Given the description of an element on the screen output the (x, y) to click on. 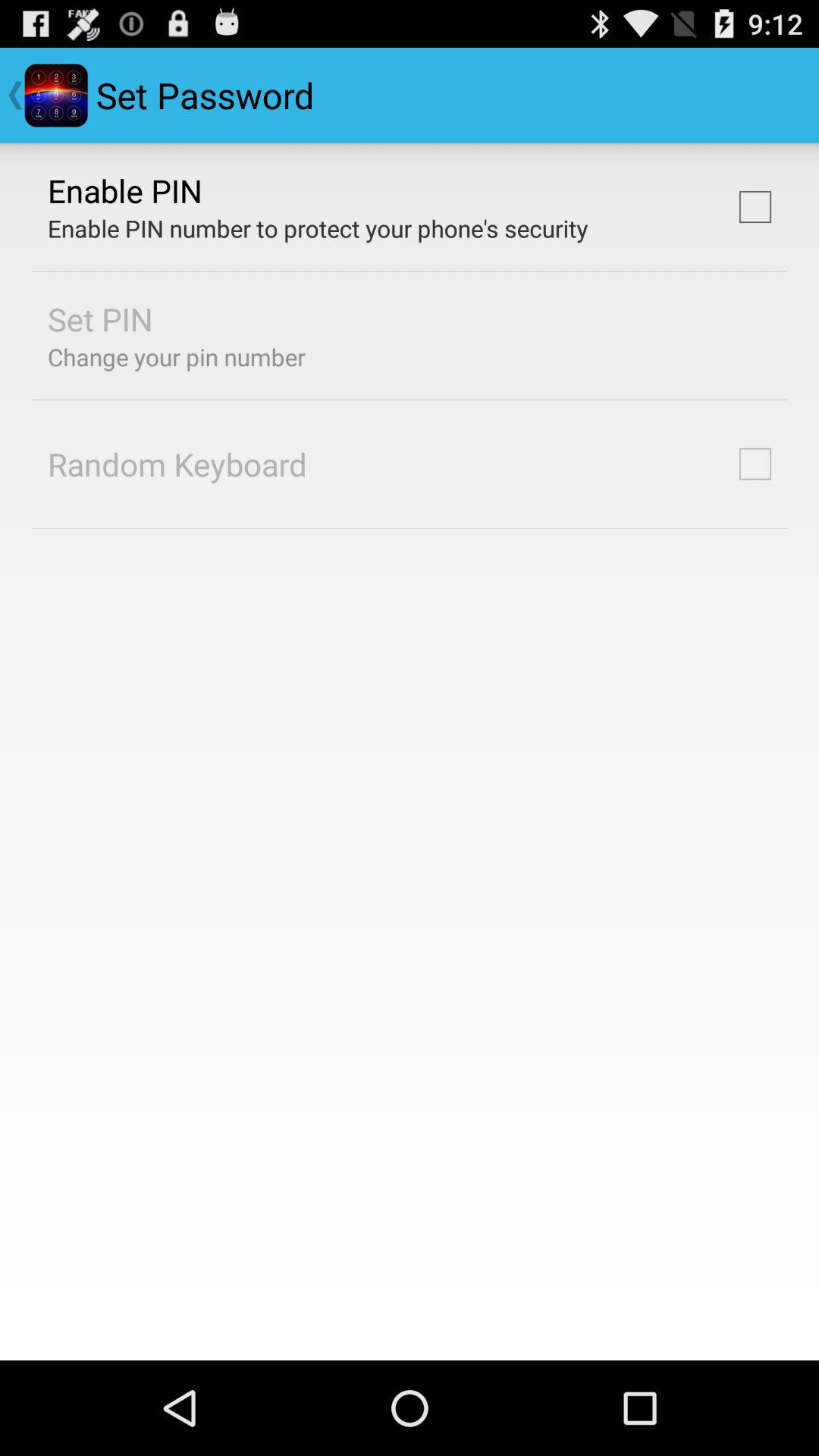
select the app below change your pin icon (177, 463)
